Given the description of an element on the screen output the (x, y) to click on. 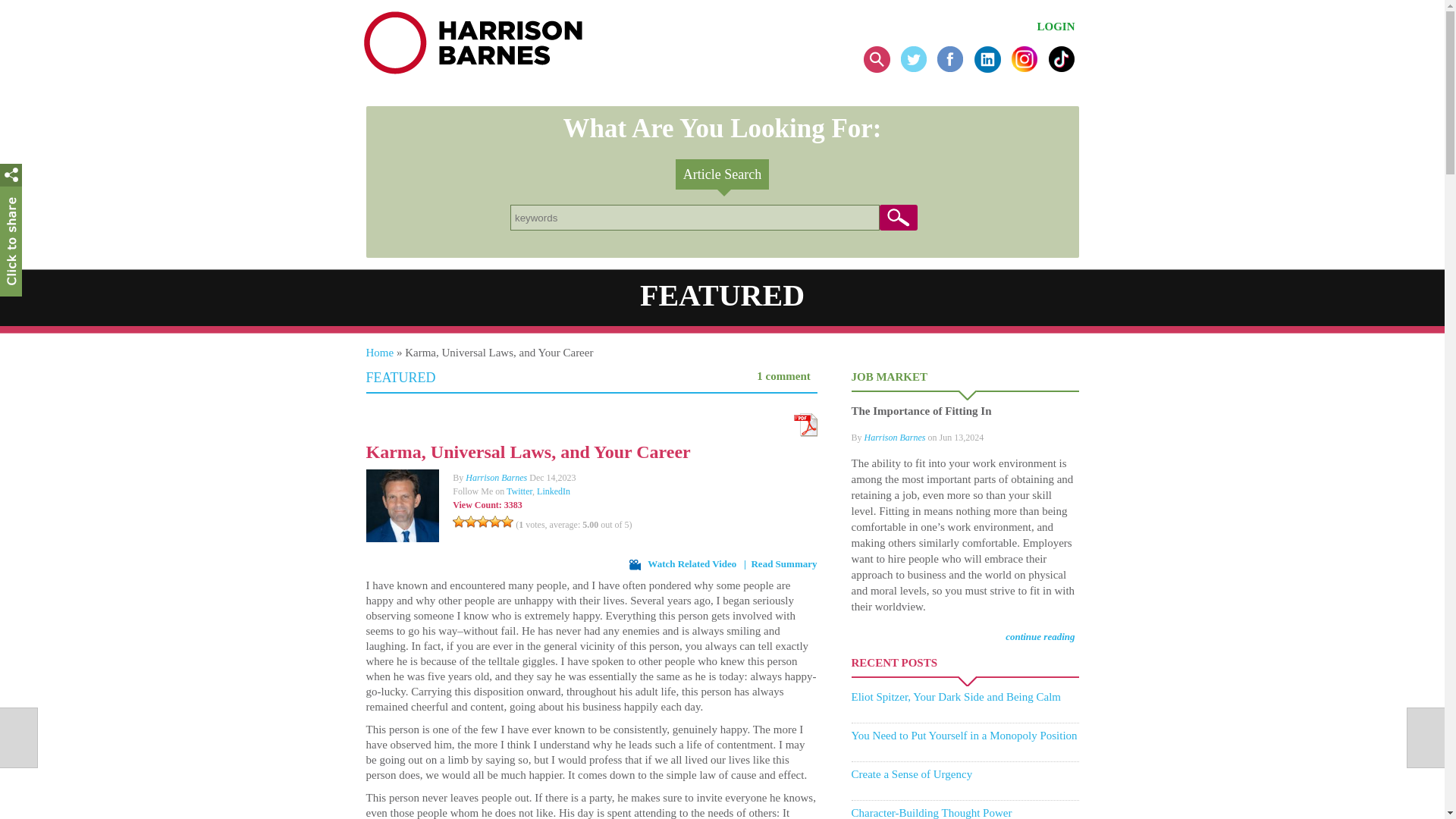
A Harrison Barnes Twitter (917, 69)
1 comment (783, 376)
4 Stars (494, 521)
LOGIN (1055, 26)
Posts by Harrison Barnes (496, 477)
Download PDF (804, 432)
2 Stars (470, 521)
Article Search (721, 173)
A Harrison Barnes Instagrm (1028, 69)
A Harrison Barnes Linkedin (991, 69)
A Harrison Barnes Tiktok (1061, 69)
Harrison Barnes (496, 477)
Harrison Barnes (473, 42)
Home (379, 352)
A Harrison Barnes Facebook (954, 69)
